Given the description of an element on the screen output the (x, y) to click on. 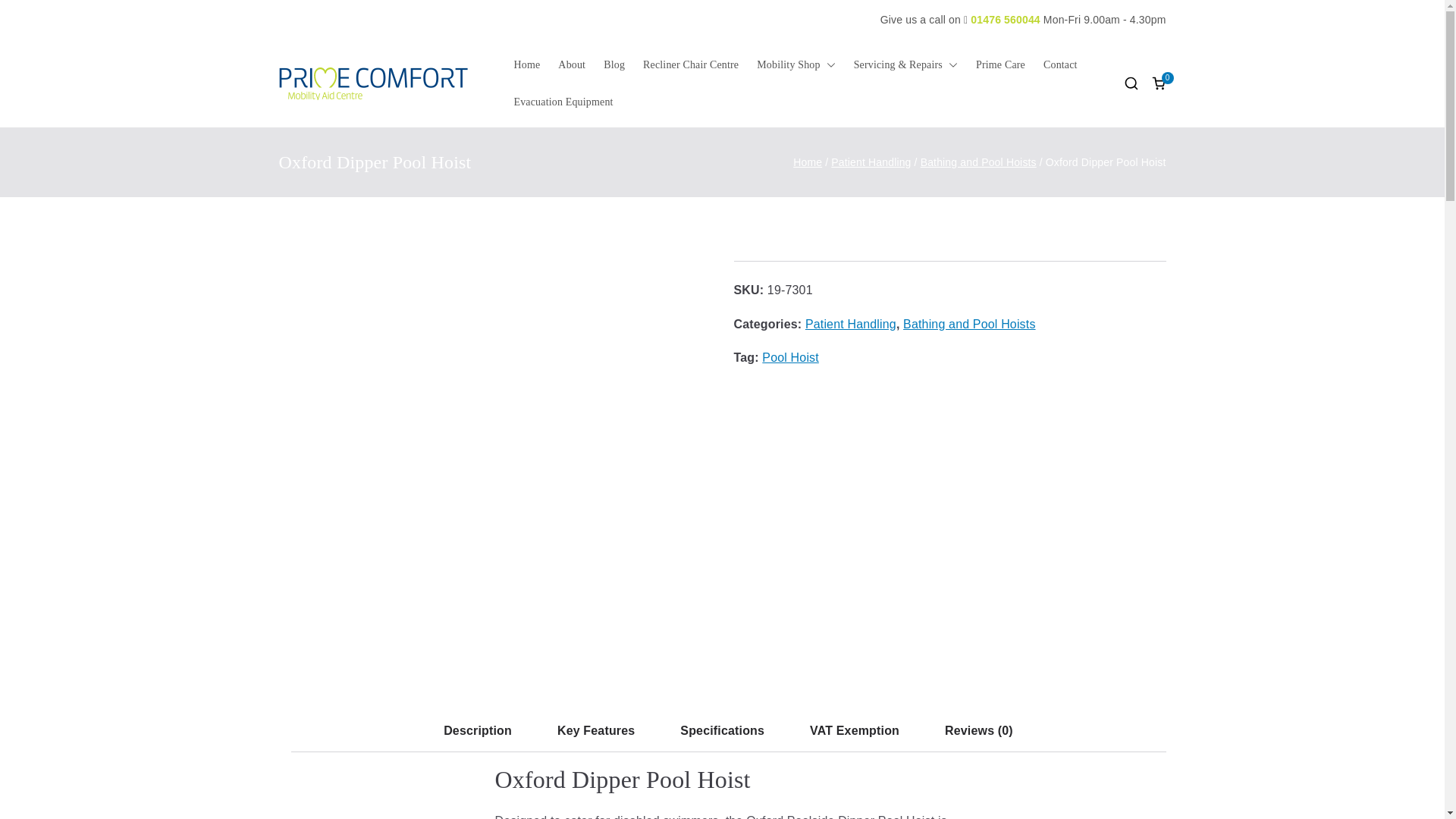
Recliner Chair Centre (690, 64)
Prime Comfort Mobility Aid Centre Grantham (630, 93)
Home (526, 64)
View your shopping basket (1158, 83)
Blog (614, 64)
Mobility Shop (795, 64)
About (571, 64)
